Given the description of an element on the screen output the (x, y) to click on. 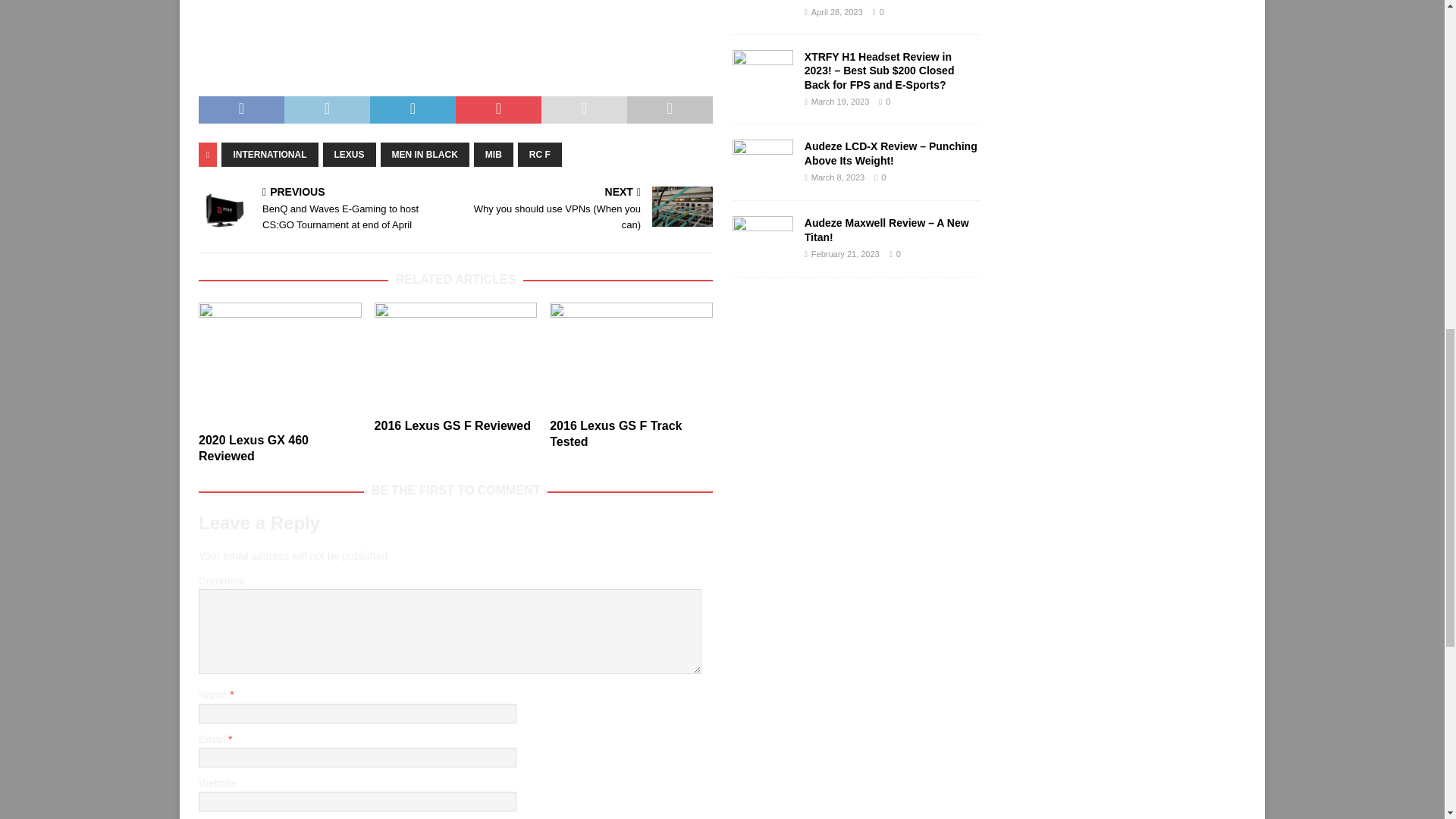
INTERNATIONAL (269, 154)
2020 Lexus GX 460 Reviewed (279, 363)
MEN IN BLACK (424, 154)
MIB (493, 154)
LEXUS (349, 154)
RC F (540, 154)
